Given the description of an element on the screen output the (x, y) to click on. 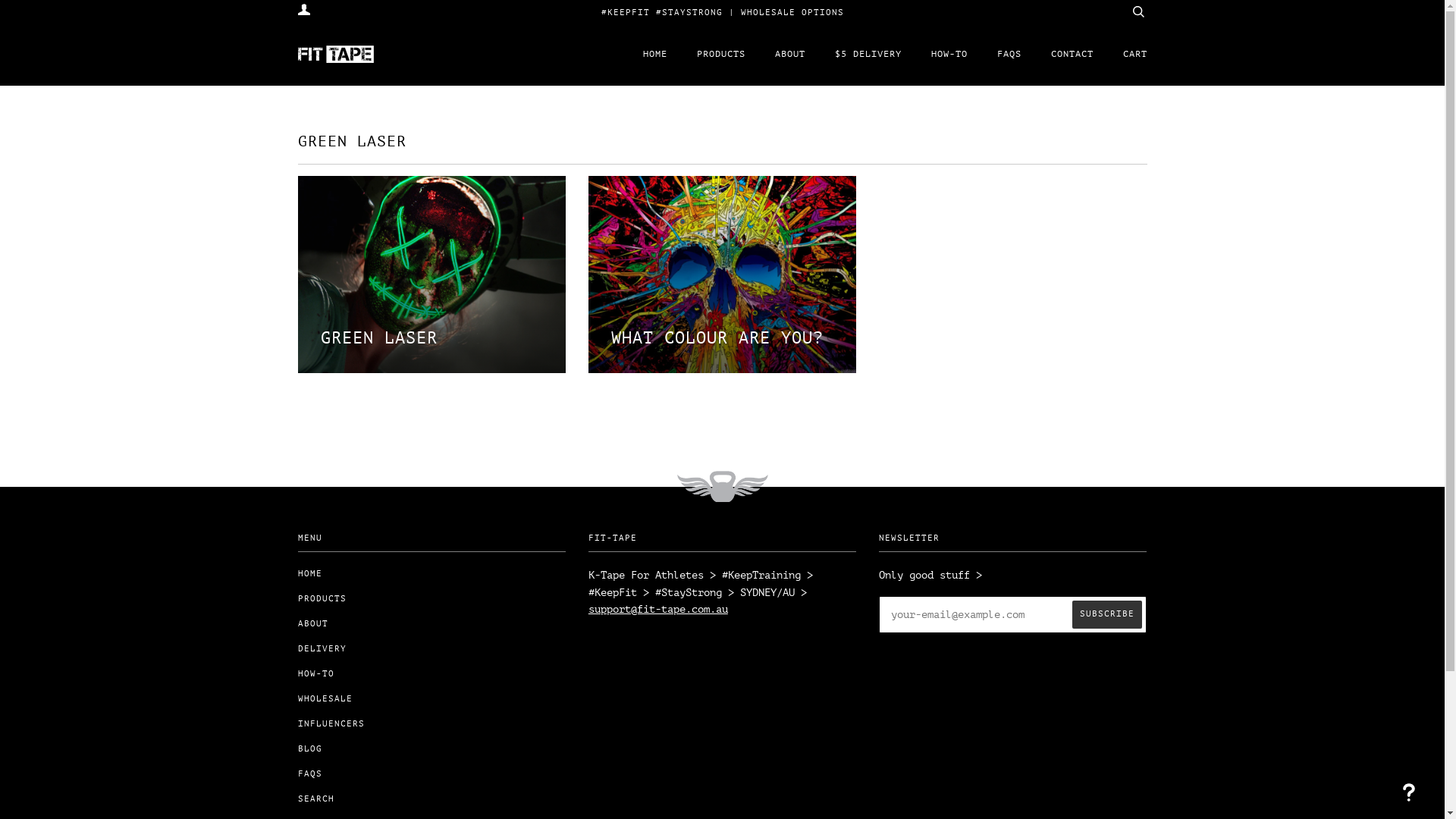
HOME Element type: text (655, 54)
HOW-TO Element type: text (315, 673)
PRODUCTS Element type: text (720, 54)
BLOG Element type: text (309, 748)
PRODUCTS Element type: text (321, 598)
SEARCH Element type: text (315, 798)
INFLUENCERS Element type: text (330, 723)
$5 DELIVERY Element type: text (867, 54)
#KEEPFIT #STAYSTRONG | WHOLESALE OPTIONS Element type: text (721, 12)
CART Element type: text (1134, 54)
DELIVERY Element type: text (321, 648)
CONTACT Element type: text (1072, 54)
Subscribe Element type: text (1107, 614)
HOW-TO Element type: text (949, 54)
GREEN LASER Element type: text (430, 274)
FAQS Element type: text (1008, 54)
WHOLESALE Element type: text (324, 698)
ABOUT Element type: text (312, 623)
HOME Element type: text (309, 573)
ABOUT Element type: text (790, 54)
WHAT COLOUR ARE YOU? Element type: text (722, 274)
FAQS Element type: text (309, 773)
support@fit-tape.com.au Element type: text (658, 609)
